Given the description of an element on the screen output the (x, y) to click on. 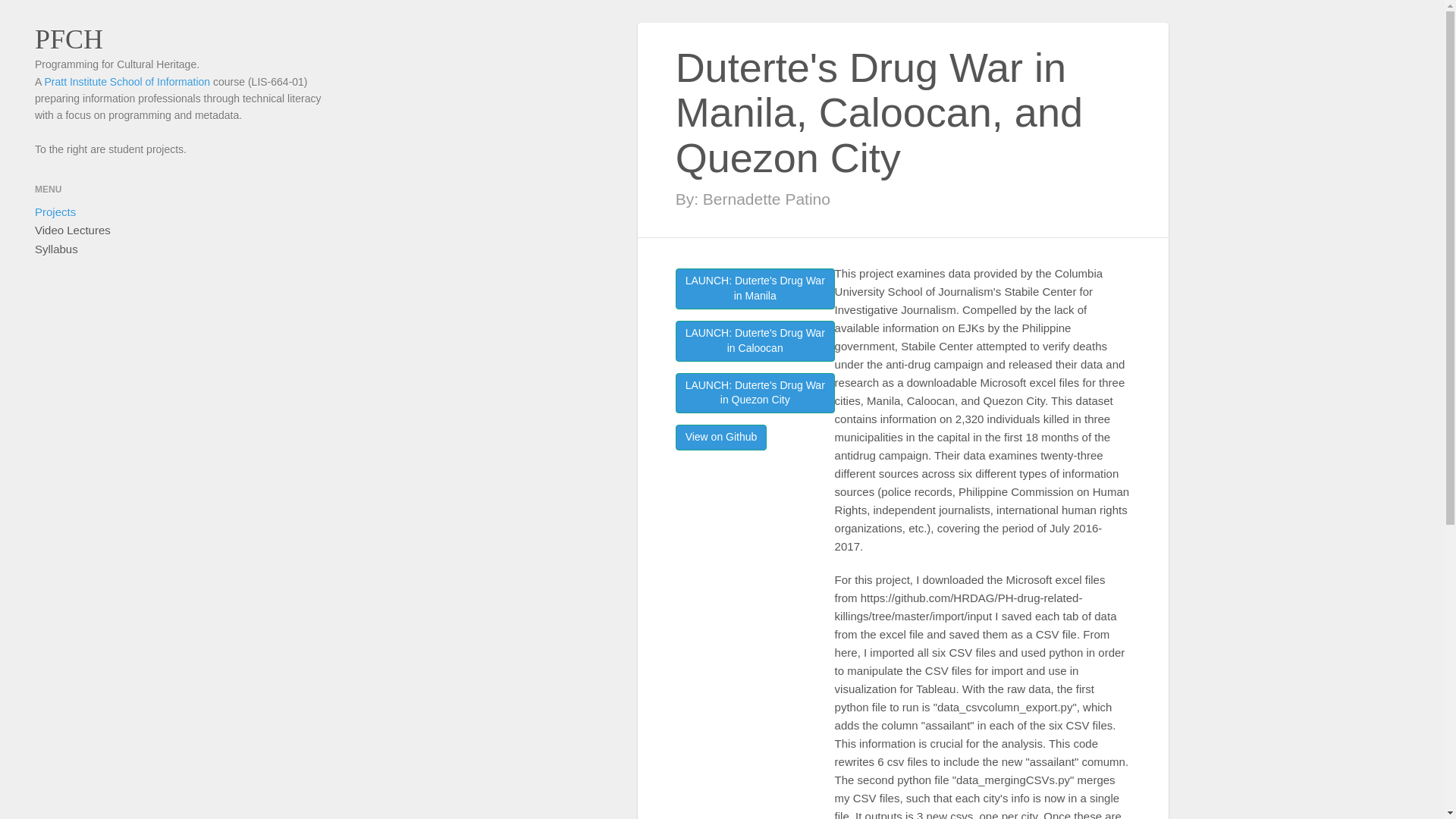
Pratt Institute School of Information (126, 81)
Video Lectures (754, 393)
View on Github (72, 230)
PFCH (721, 437)
Syllabus (754, 288)
Projects (754, 341)
